Given the description of an element on the screen output the (x, y) to click on. 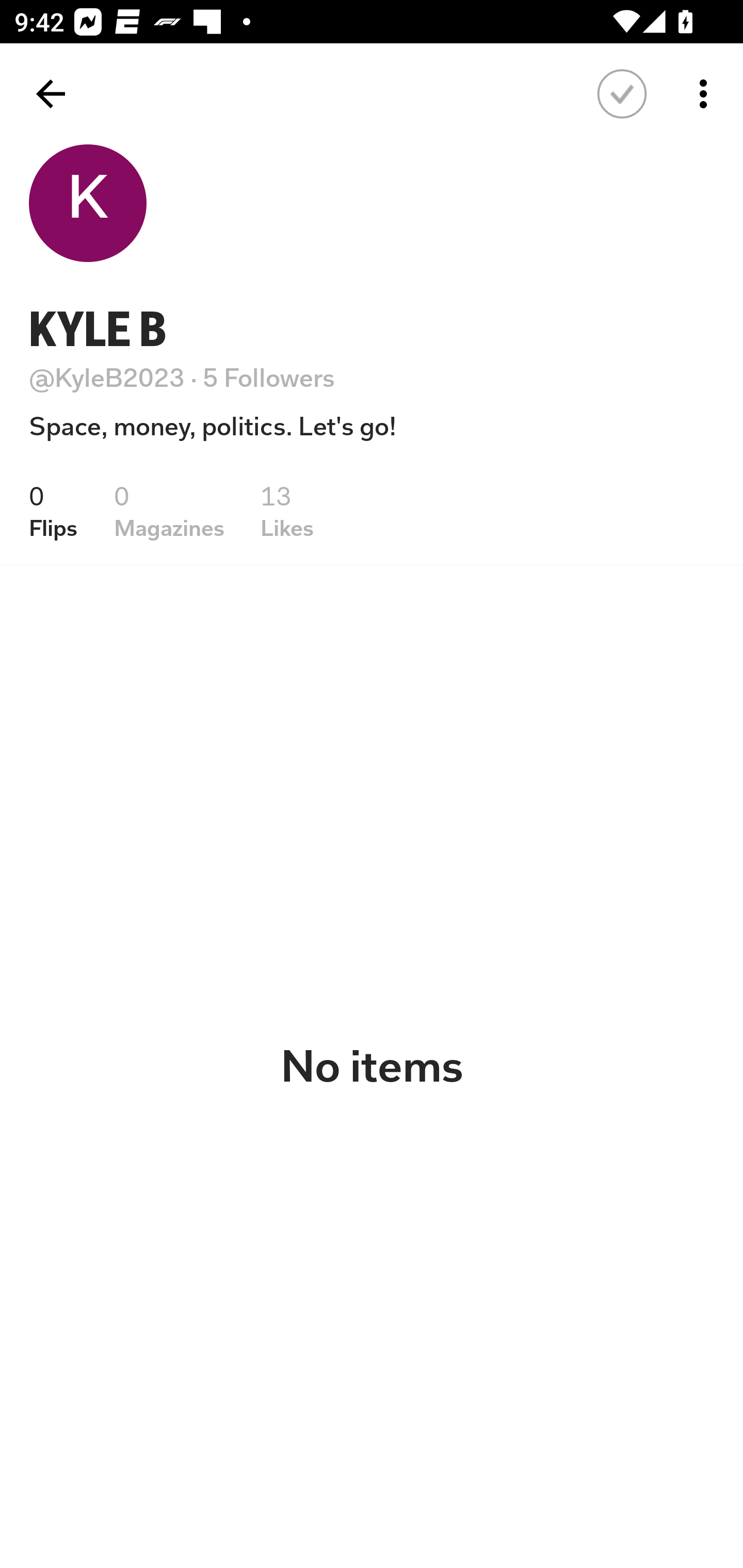
Back (50, 93)
More options (706, 93)
Following (622, 93)
KYLE B (97, 328)
@KyleB2023 (106, 377)
5 Followers (268, 377)
0 Flips (53, 510)
0 Magazines (168, 510)
13 Likes (287, 510)
